Given the description of an element on the screen output the (x, y) to click on. 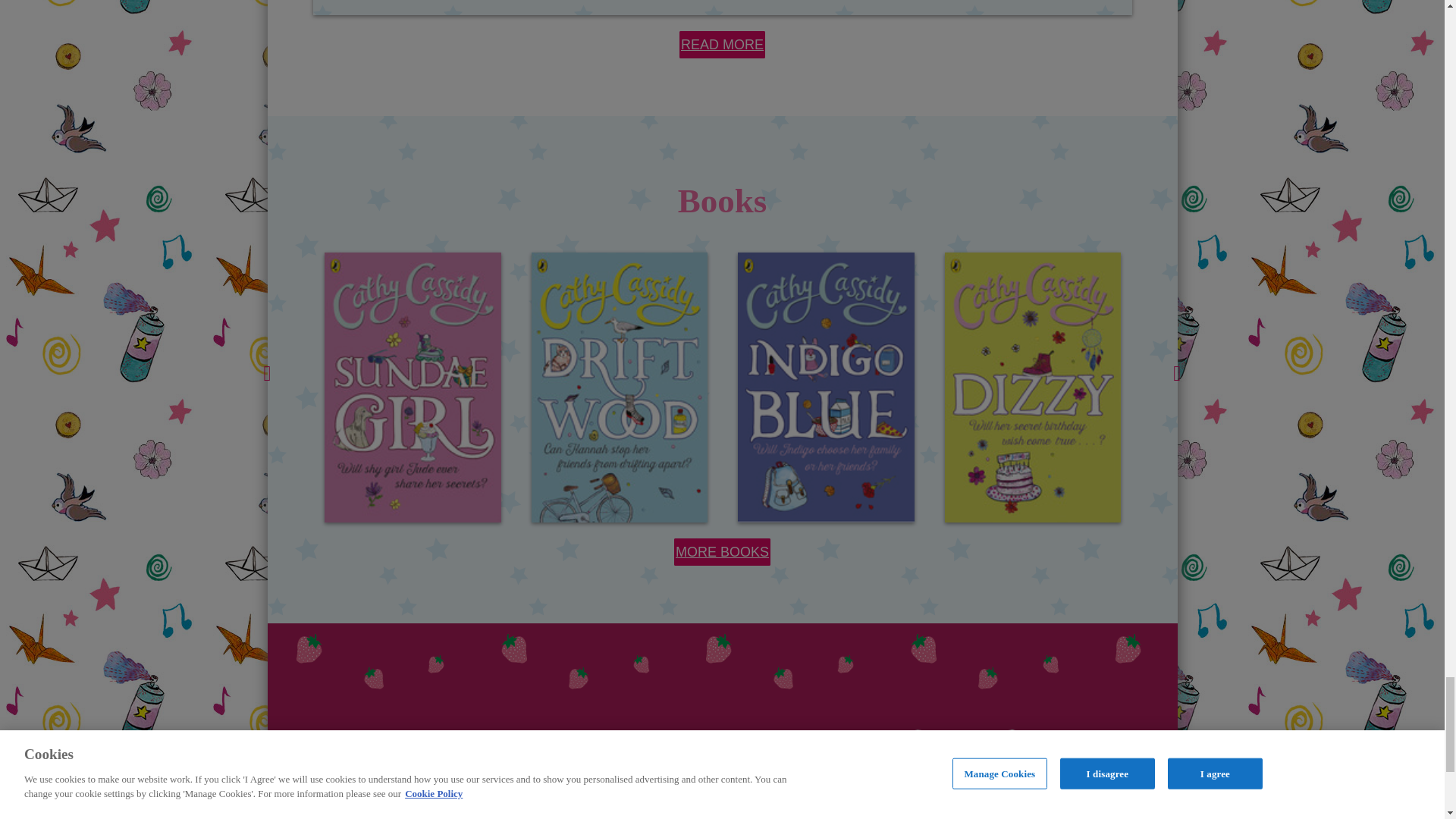
READ MORE (722, 44)
